Given the description of an element on the screen output the (x, y) to click on. 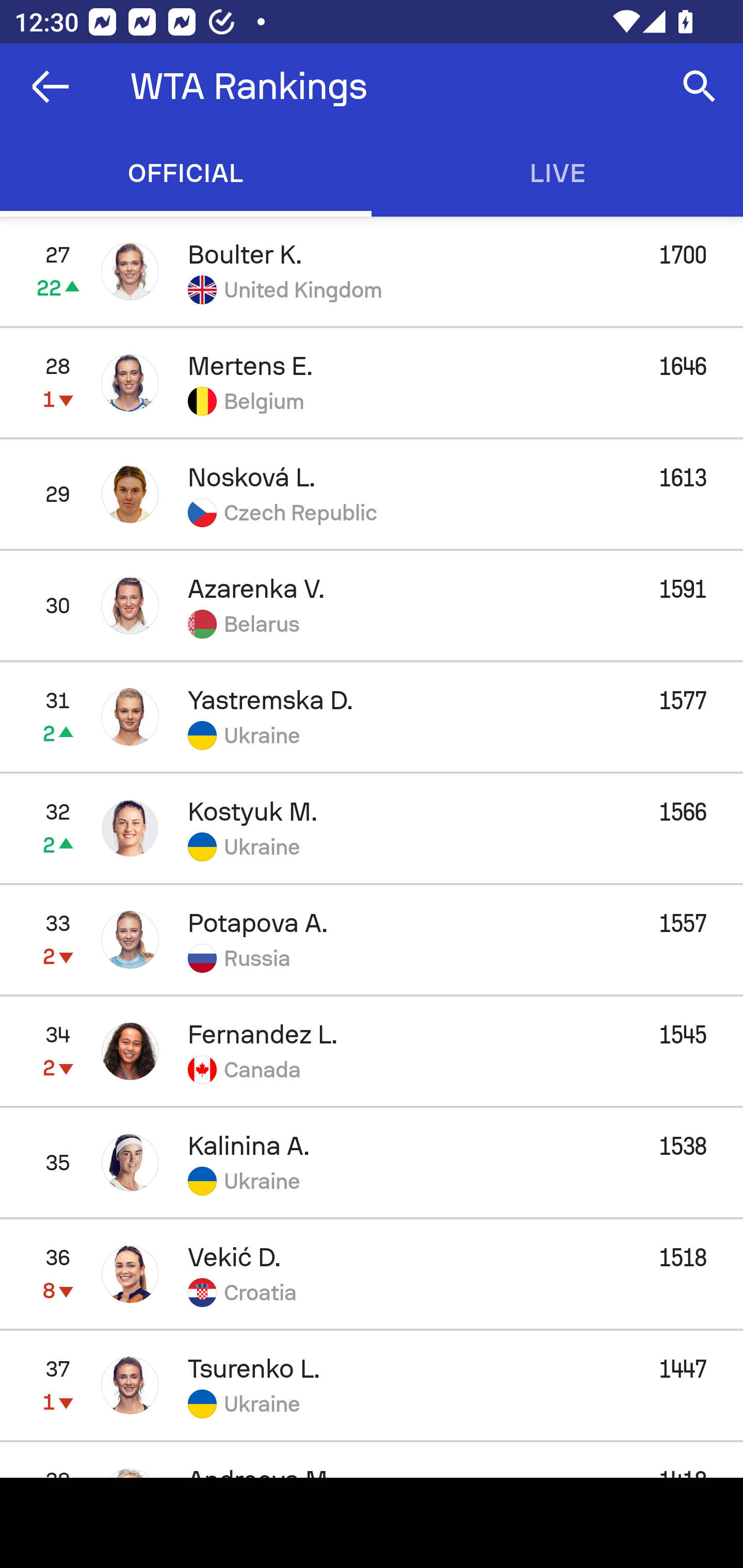
Navigate up (50, 86)
Search (699, 86)
Live LIVE (557, 173)
27 22 Boulter K. 1700 United Kingdom (371, 271)
28 1 Mertens E. 1646 Belgium (371, 382)
29 Nosková L. 1613 Czech Republic (371, 493)
30 Azarenka V. 1591 Belarus (371, 605)
31 2 Yastremska D. 1577 Ukraine (371, 716)
32 2 Kostyuk M. 1566 Ukraine (371, 827)
33 2 Potapova A. 1557 Russia (371, 939)
34 2 Fernandez L. 1545 Canada (371, 1051)
35 Kalinina A. 1538 Ukraine (371, 1162)
36 8 Vekić D. 1518 Croatia (371, 1273)
37 1 Tsurenko L. 1447 Ukraine (371, 1385)
